Given the description of an element on the screen output the (x, y) to click on. 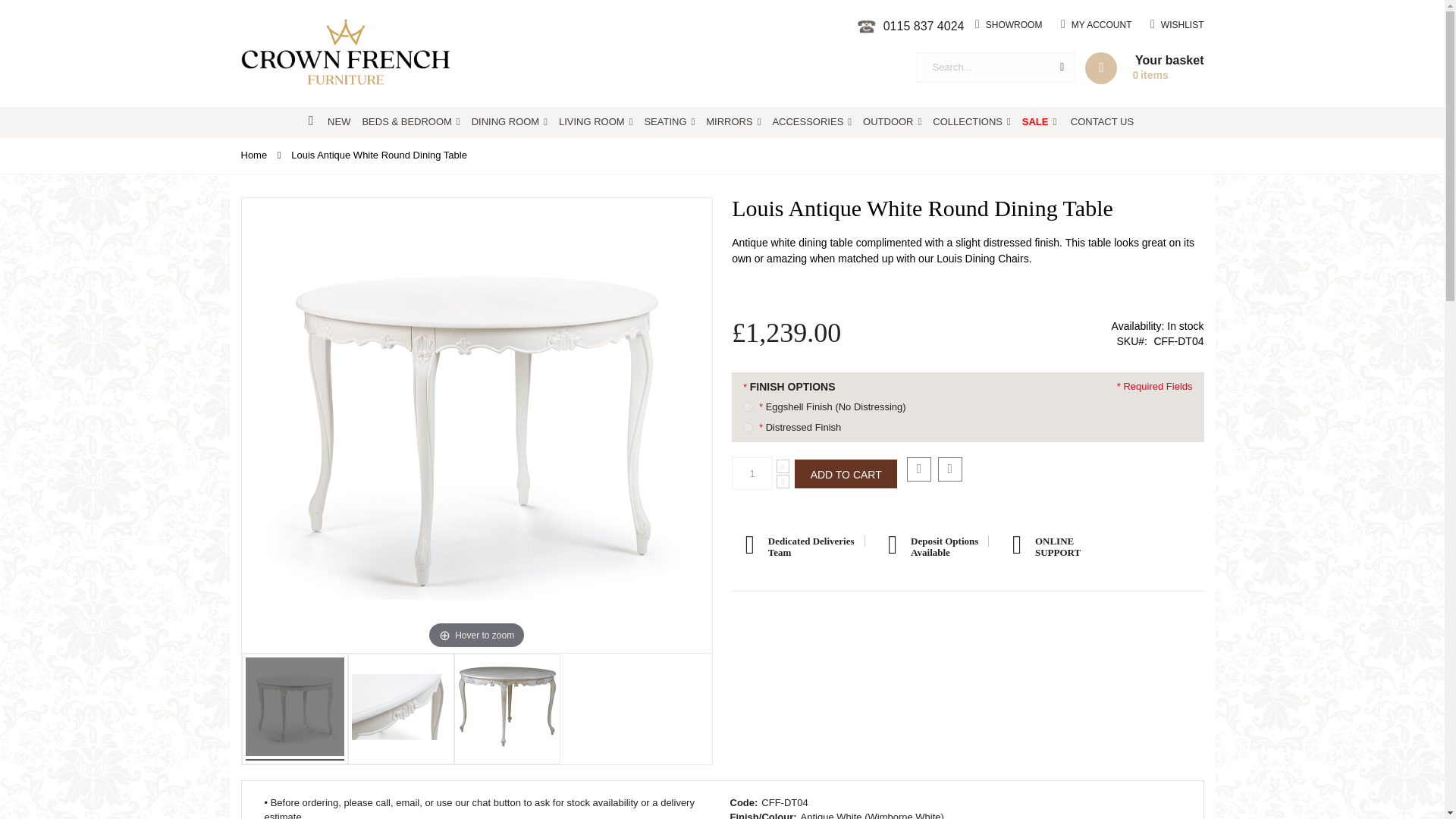
Dining Room (509, 122)
WISHLIST (1177, 24)
1 (752, 473)
1371 (747, 406)
SHOWROOM (1008, 24)
NEW (339, 122)
NEW (339, 122)
MY ACCOUNT (1096, 24)
Search (1139, 68)
LIVING ROOM (1061, 67)
0115 837 4024 (595, 122)
SEATING (910, 29)
DINING ROOM (668, 122)
1372 (509, 122)
